Given the description of an element on the screen output the (x, y) to click on. 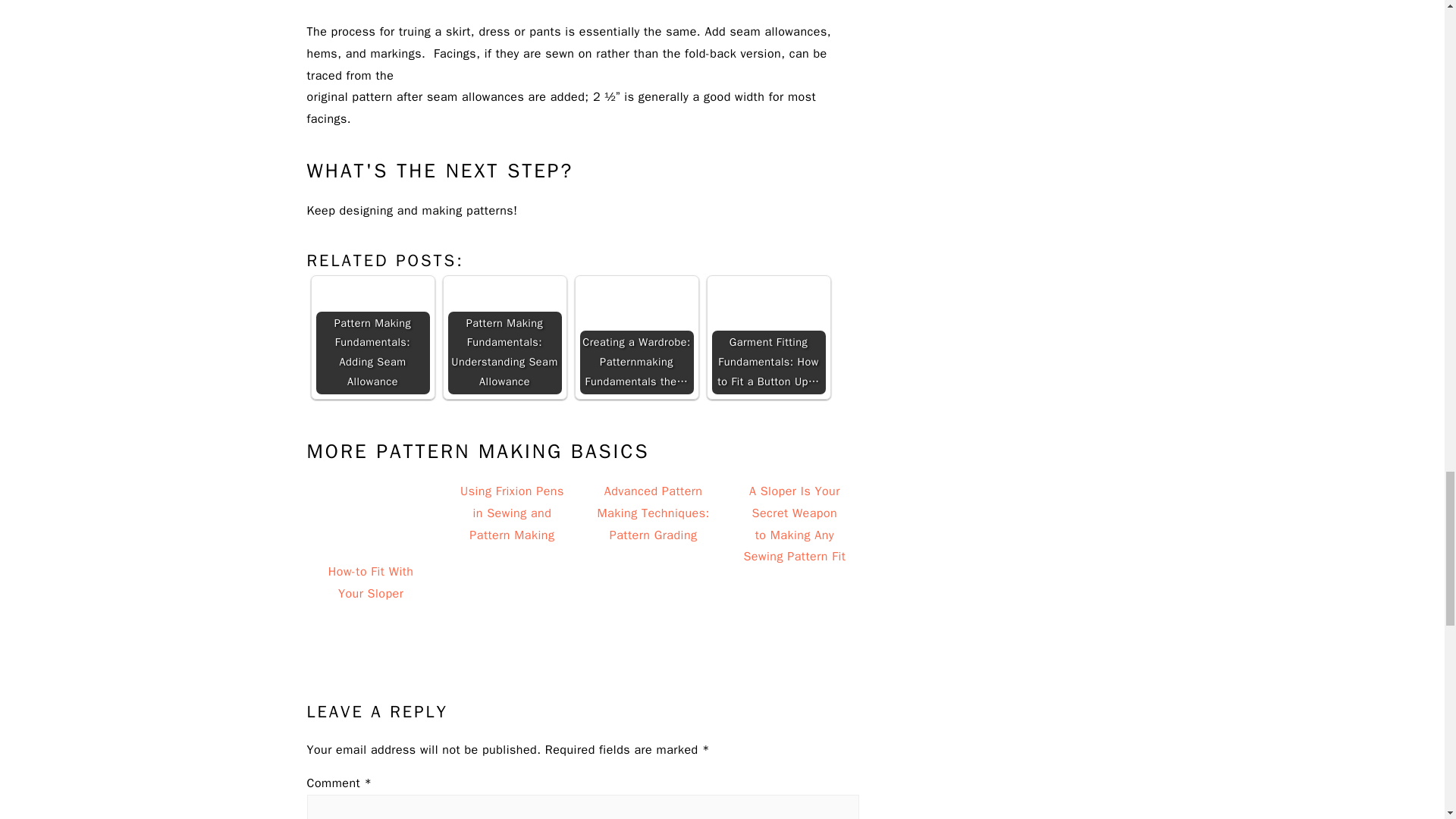
Advanced Pattern Making Techniques: Pattern Grading (653, 542)
Pattern Making Fundamentals: Adding Seam Allowance (372, 336)
Using Frixion Pens in Sewing and Pattern Making (512, 542)
How-to Fit With Your Sloper (369, 542)
Pattern Making Fundamentals: Understanding Seam Allowance (503, 336)
